Given the description of an element on the screen output the (x, y) to click on. 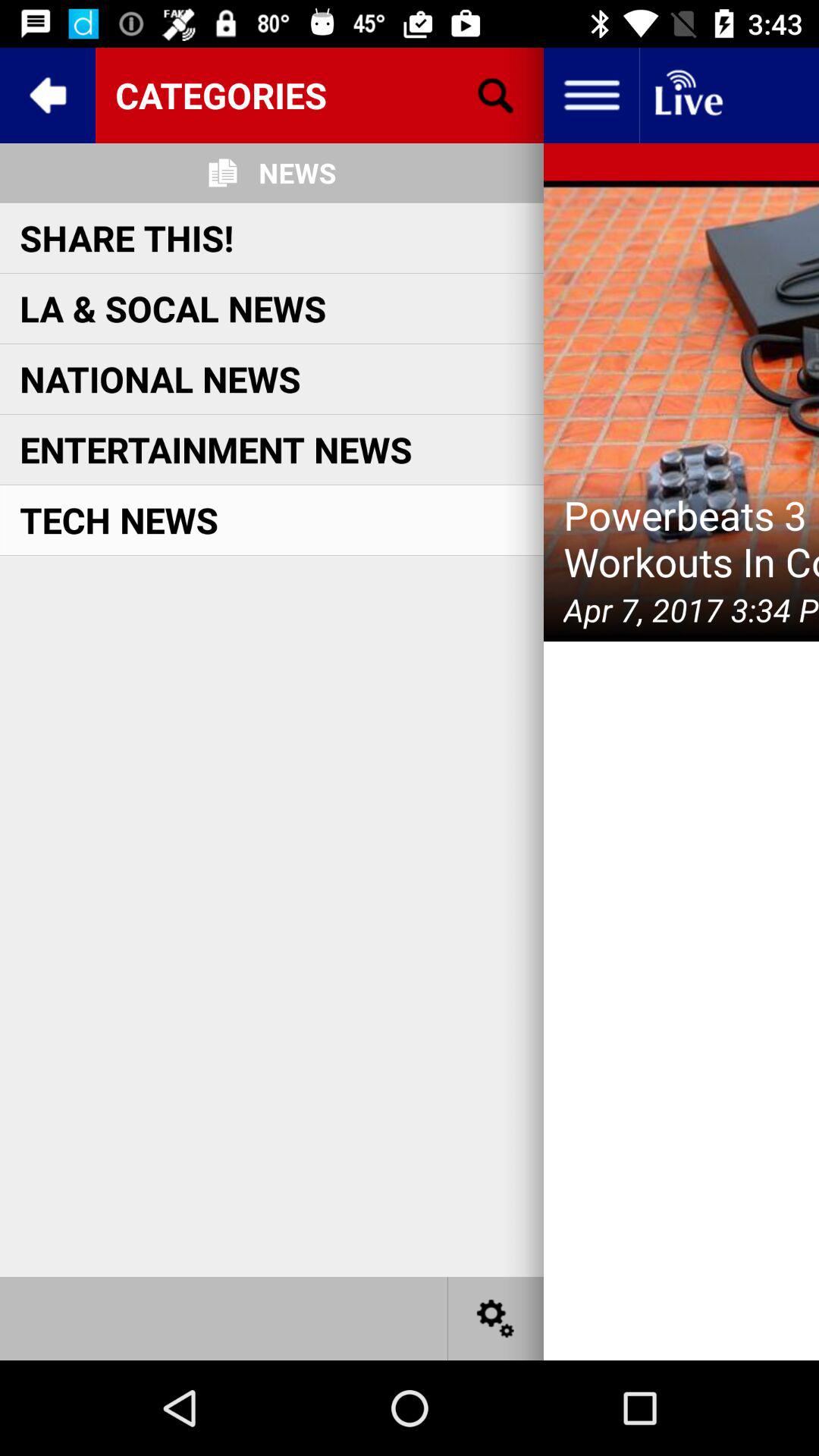
go back (47, 95)
